Given the description of an element on the screen output the (x, y) to click on. 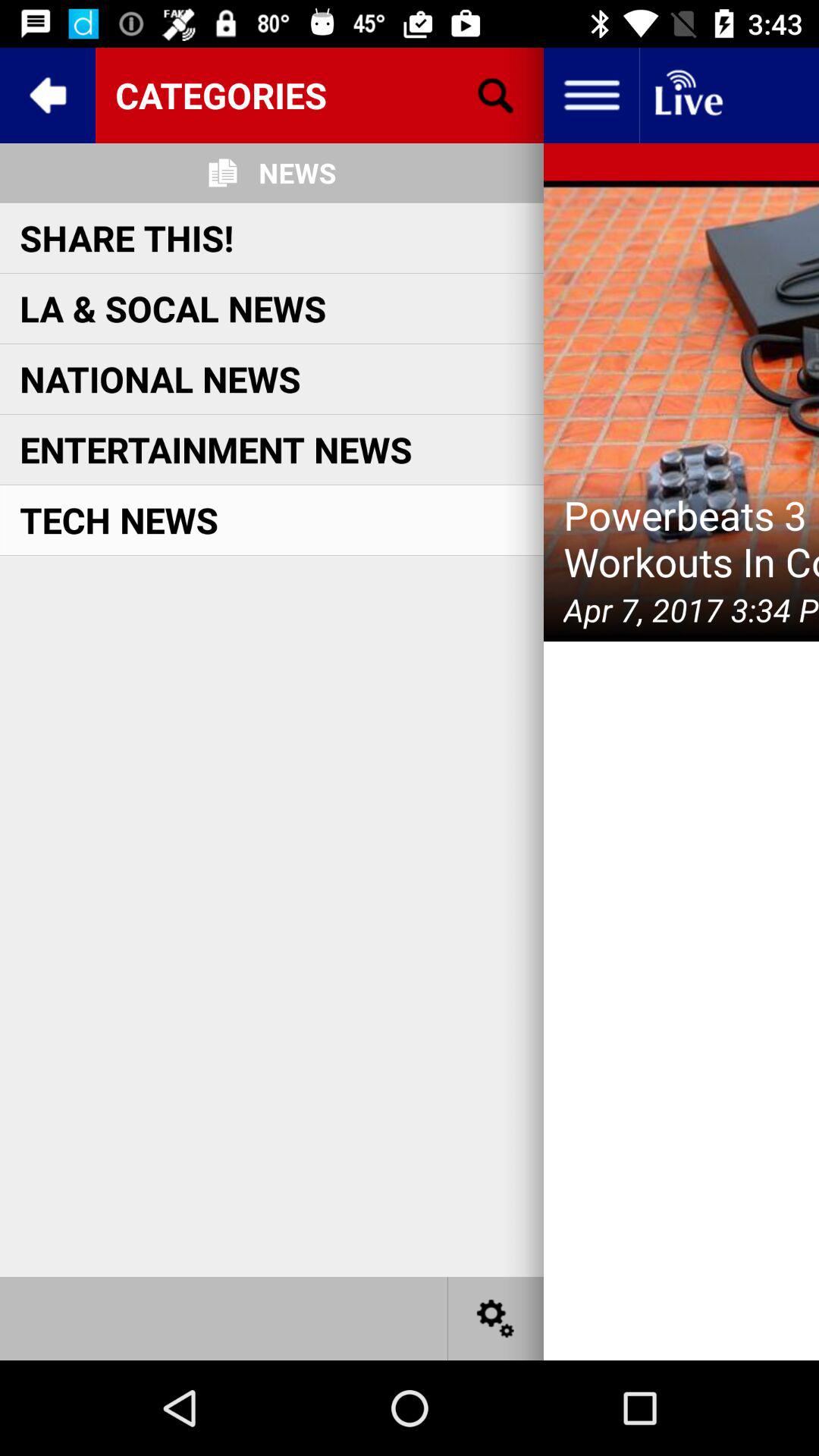
go back (47, 95)
